Given the description of an element on the screen output the (x, y) to click on. 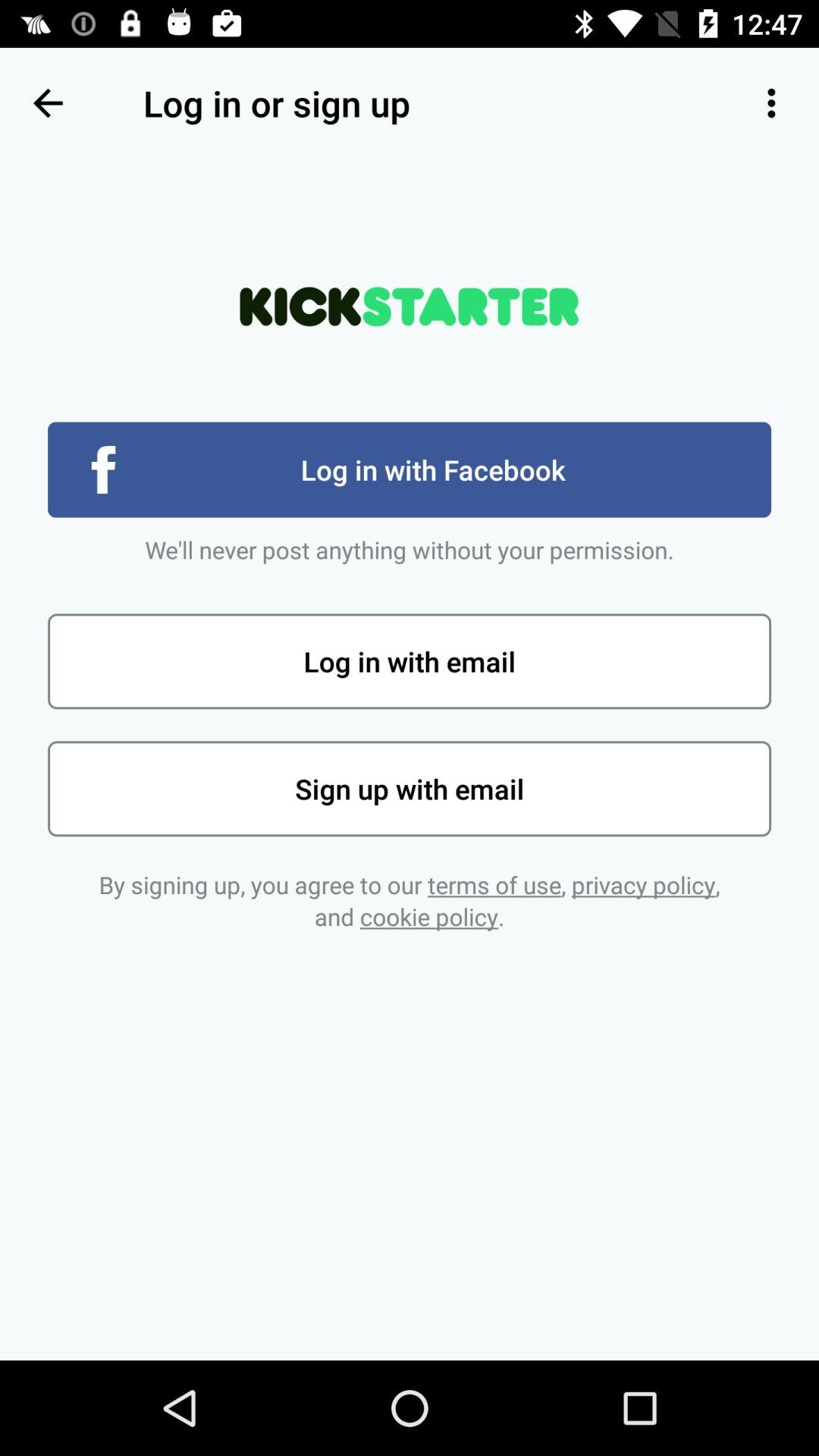
press the item next to the log in or (47, 103)
